Given the description of an element on the screen output the (x, y) to click on. 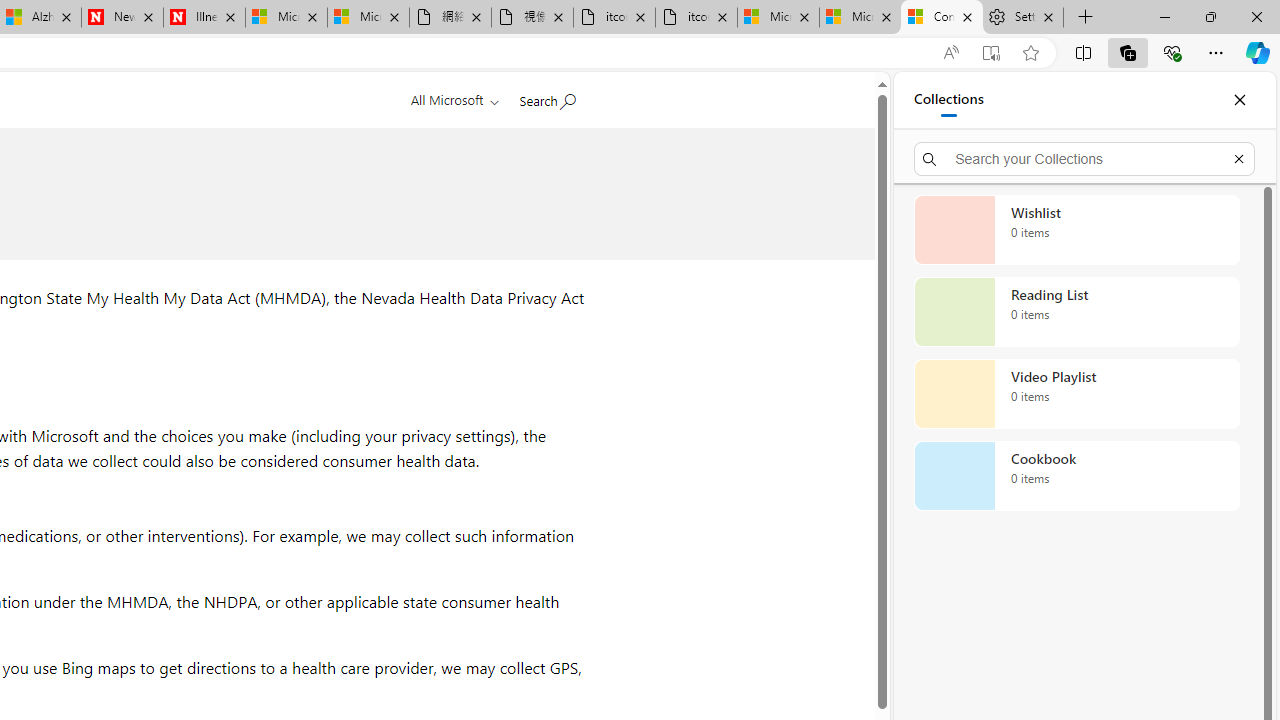
Search your Collections (1084, 158)
Illness news & latest pictures from Newsweek.com (203, 17)
